Given the description of an element on the screen output the (x, y) to click on. 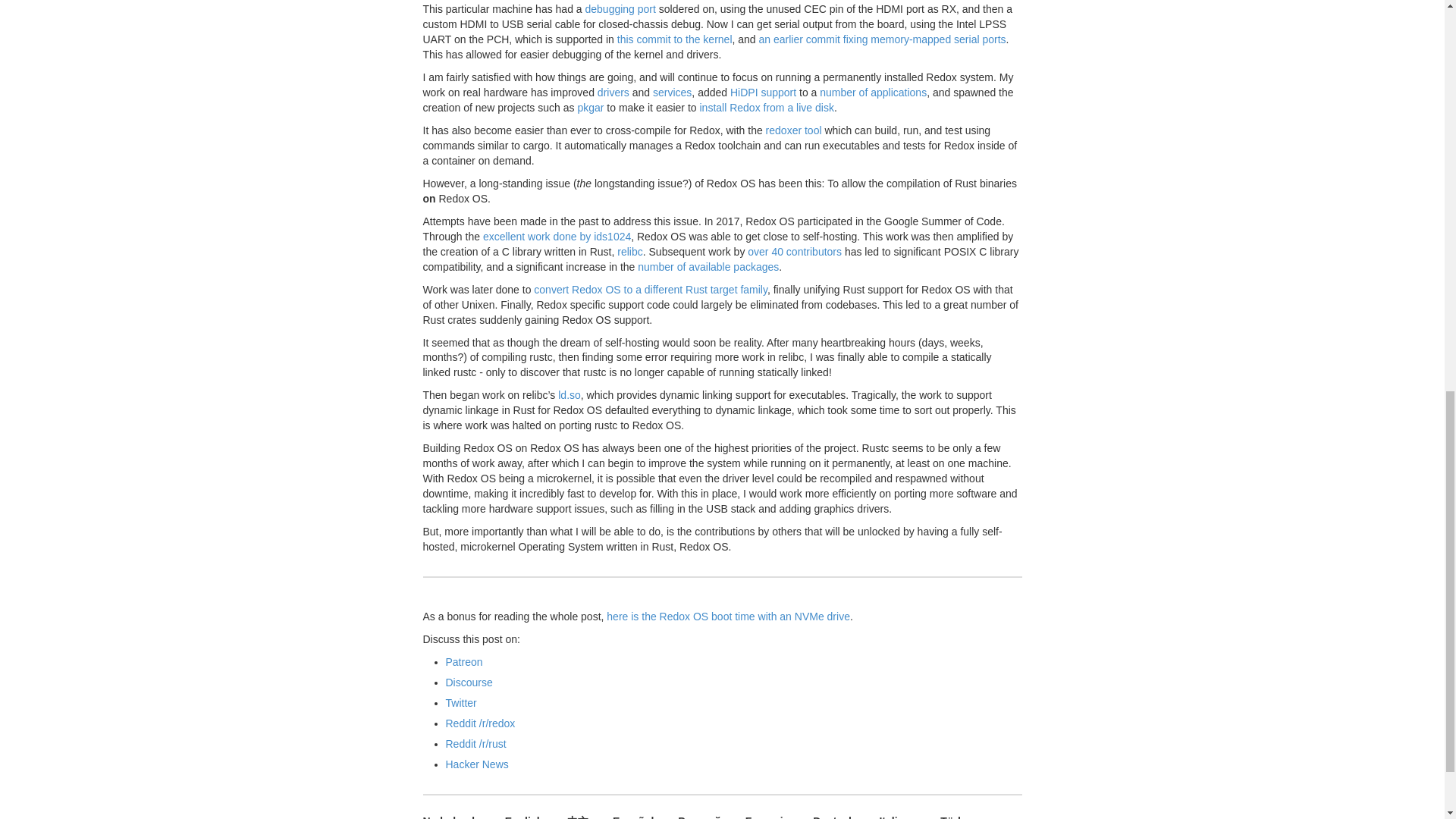
excellent work done by ids1024 (556, 236)
Twitter (461, 702)
Patreon (464, 662)
relibc (629, 251)
Hacker News (476, 764)
pkgar (590, 107)
ld.so (568, 395)
drivers (612, 92)
debugging port (620, 9)
Discourse (469, 682)
